Given the description of an element on the screen output the (x, y) to click on. 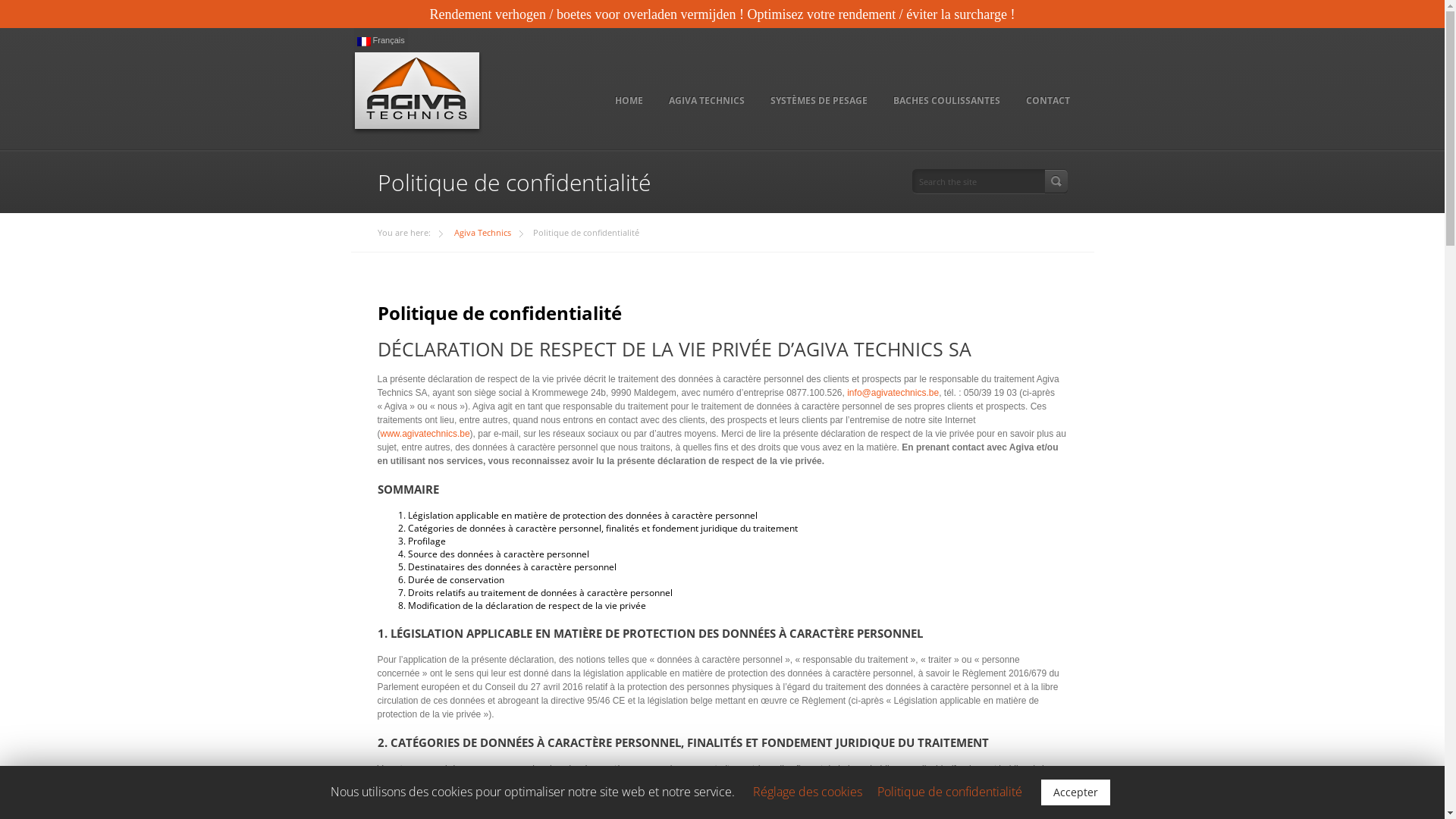
Agiva Technics Element type: text (487, 232)
Accepter Element type: text (1075, 792)
info@agivatechnics.be Element type: text (892, 392)
BACHES COULISSANTES Element type: text (945, 100)
CONTACT Element type: text (1047, 100)
www.agivatechnics.be Element type: text (425, 433)
HOME Element type: text (628, 100)
AGIVA TECHNICS Element type: text (705, 100)
